Given the description of an element on the screen output the (x, y) to click on. 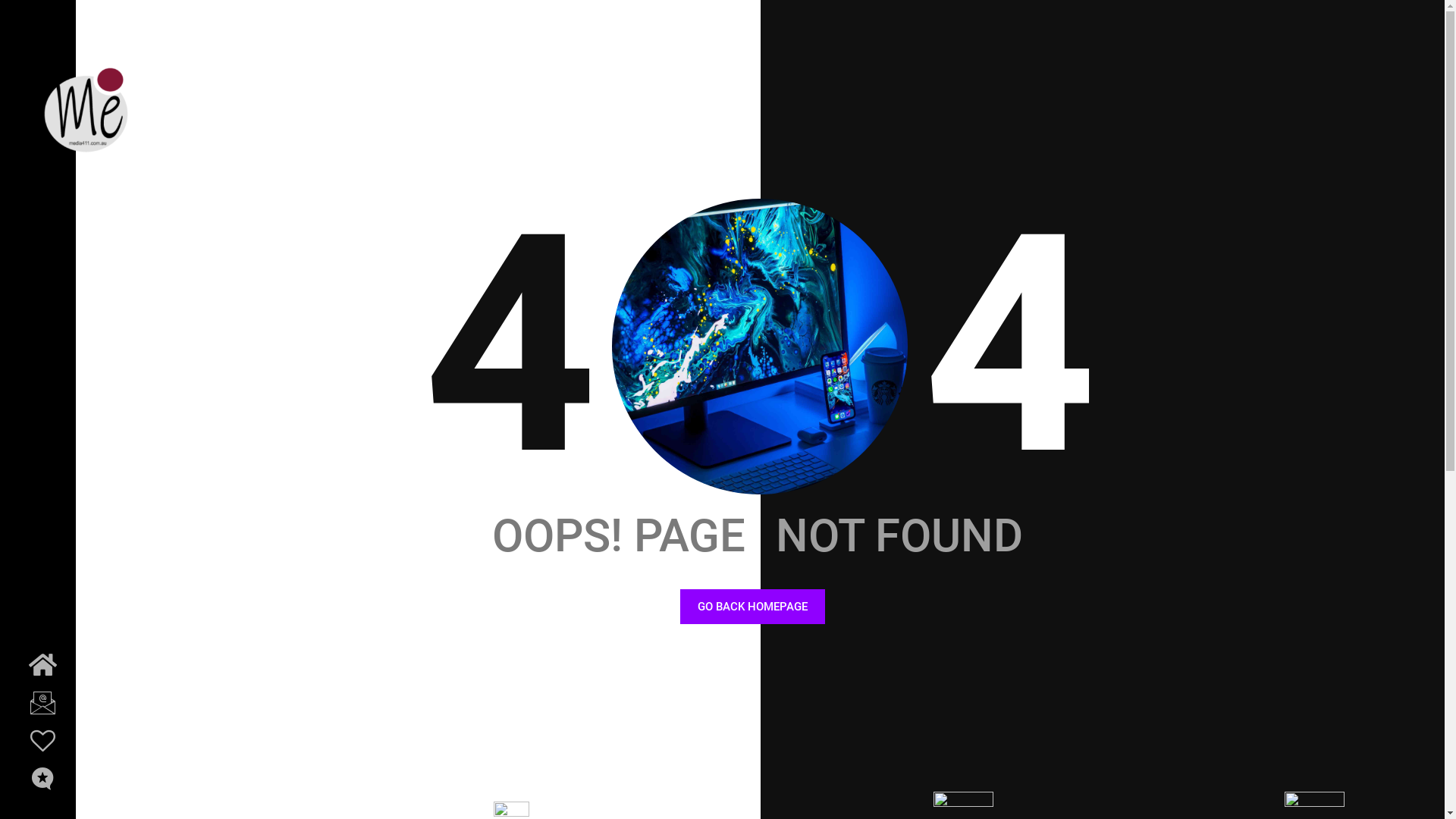
GO BACK HOMEPAGE Element type: text (752, 606)
